Given the description of an element on the screen output the (x, y) to click on. 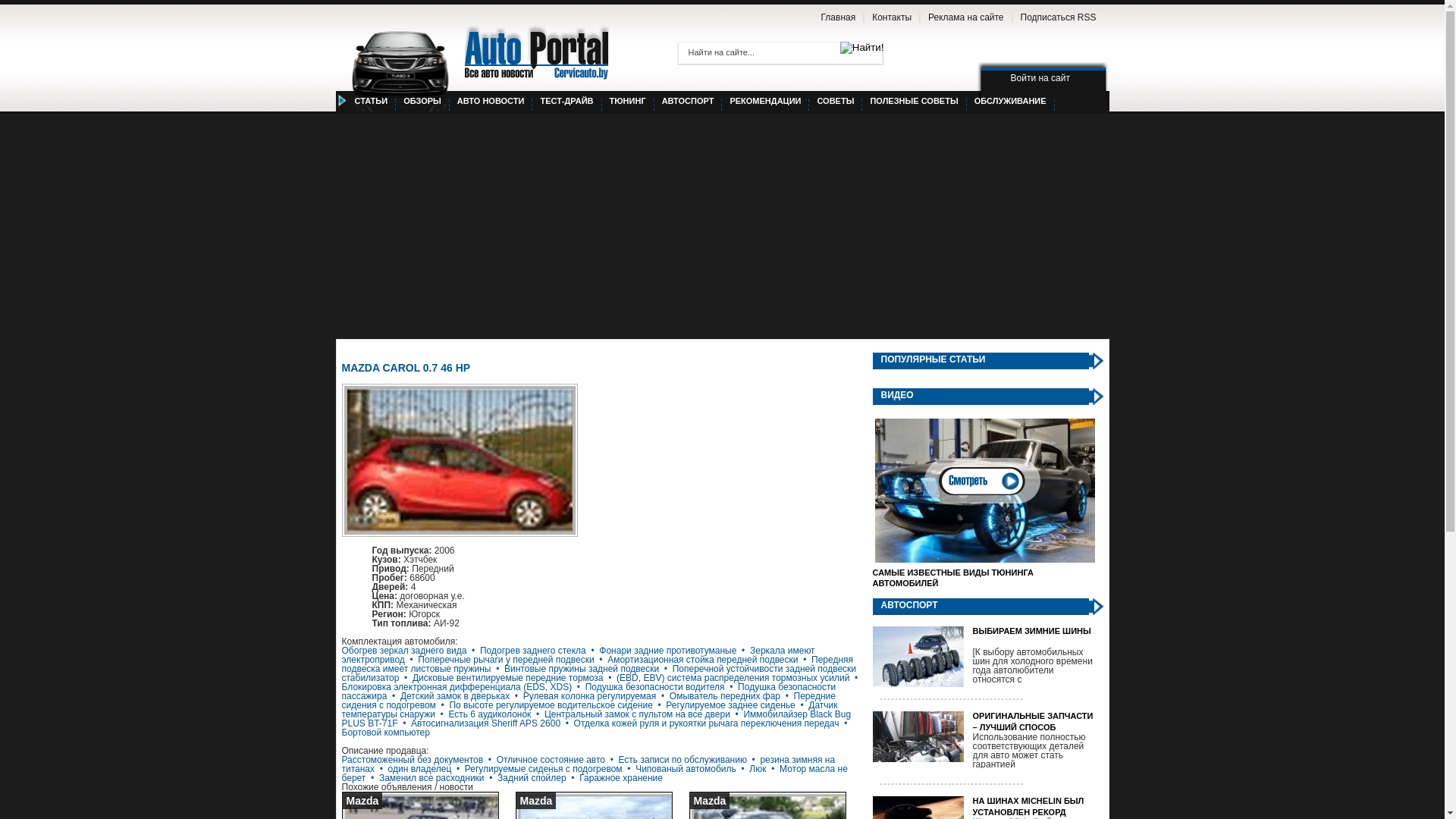
Advertisement Element type: hover (721, 225)
